Given the description of an element on the screen output the (x, y) to click on. 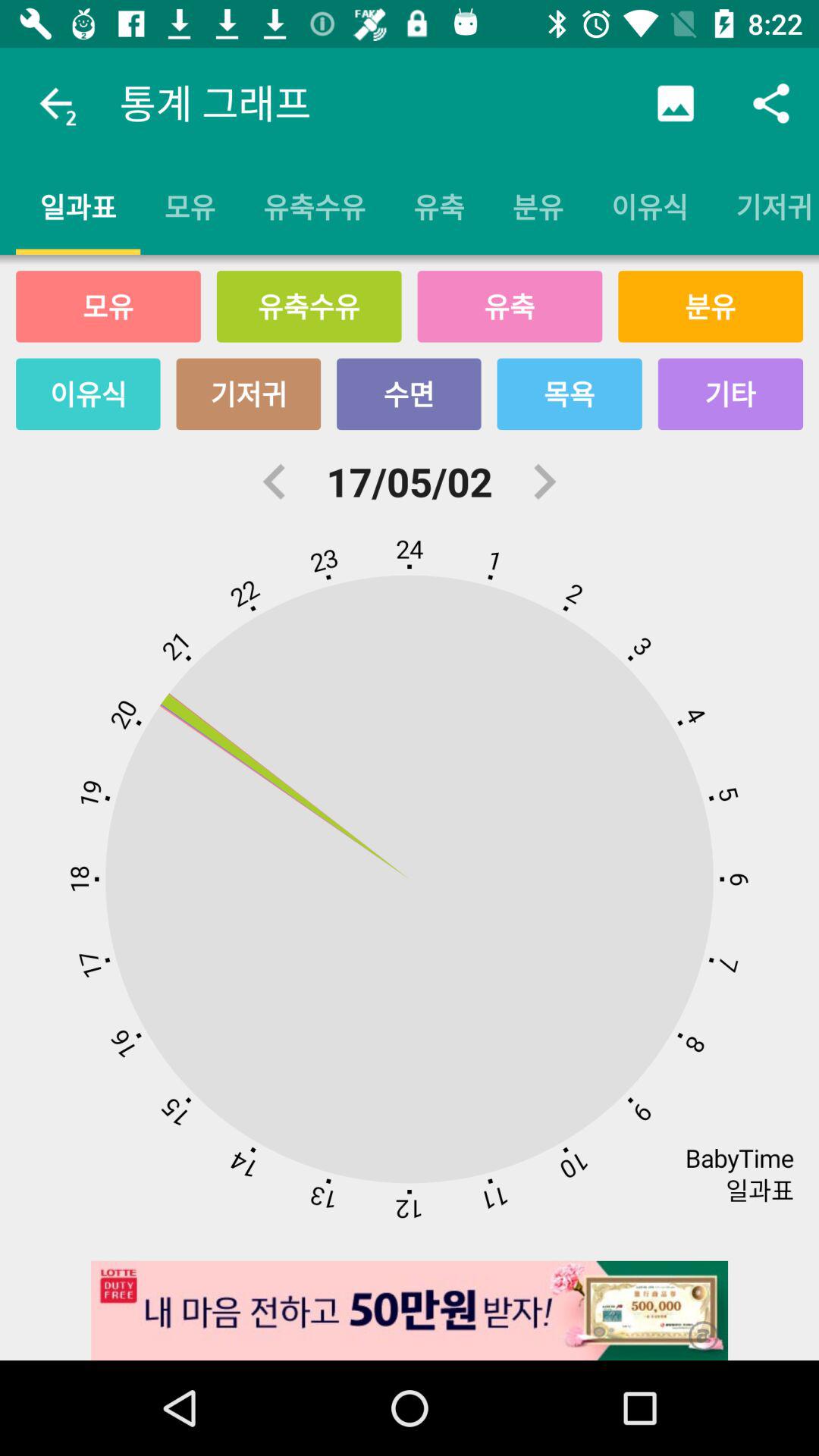
click the icon next to the 17/05/02 (274, 481)
